Given the description of an element on the screen output the (x, y) to click on. 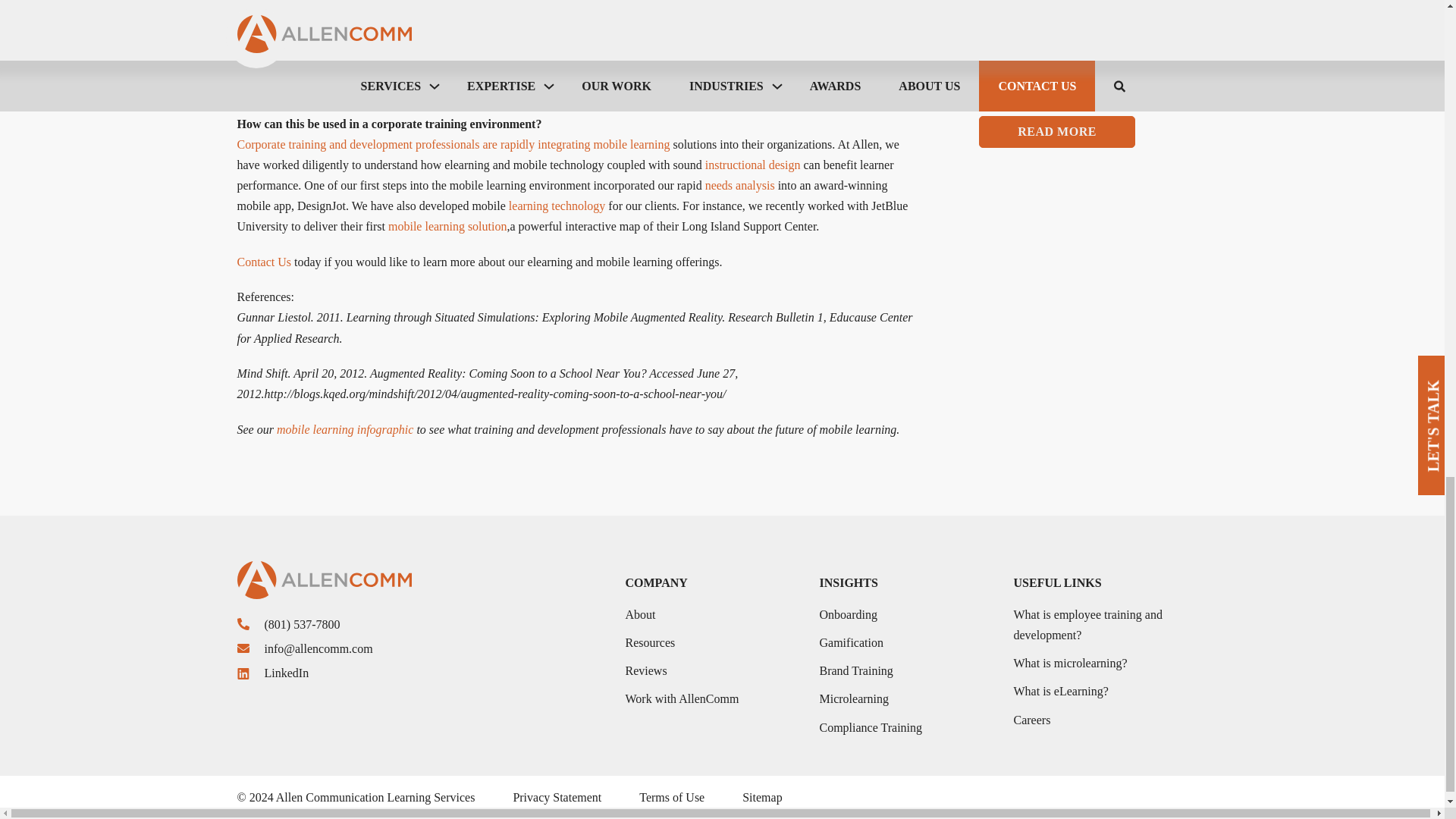
ELearning company contact (263, 261)
mobile learning infographic (344, 429)
mobile learning development (447, 226)
